Given the description of an element on the screen output the (x, y) to click on. 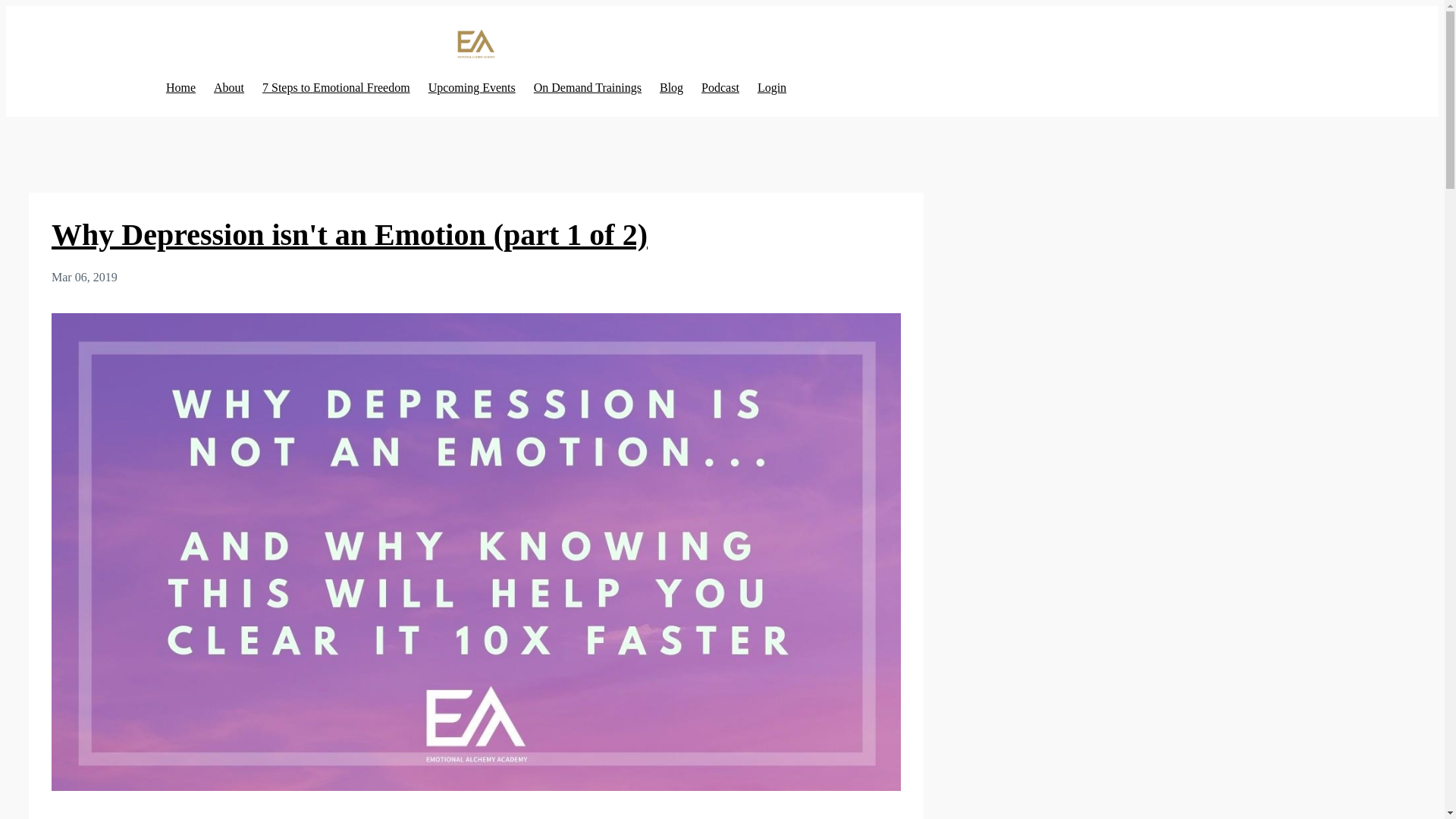
On Demand Trainings (588, 87)
Podcast (720, 87)
Upcoming Events (471, 87)
7 Steps to Emotional Freedom (336, 87)
Home (180, 87)
About (229, 87)
Blog (670, 87)
Login (771, 87)
